Given the description of an element on the screen output the (x, y) to click on. 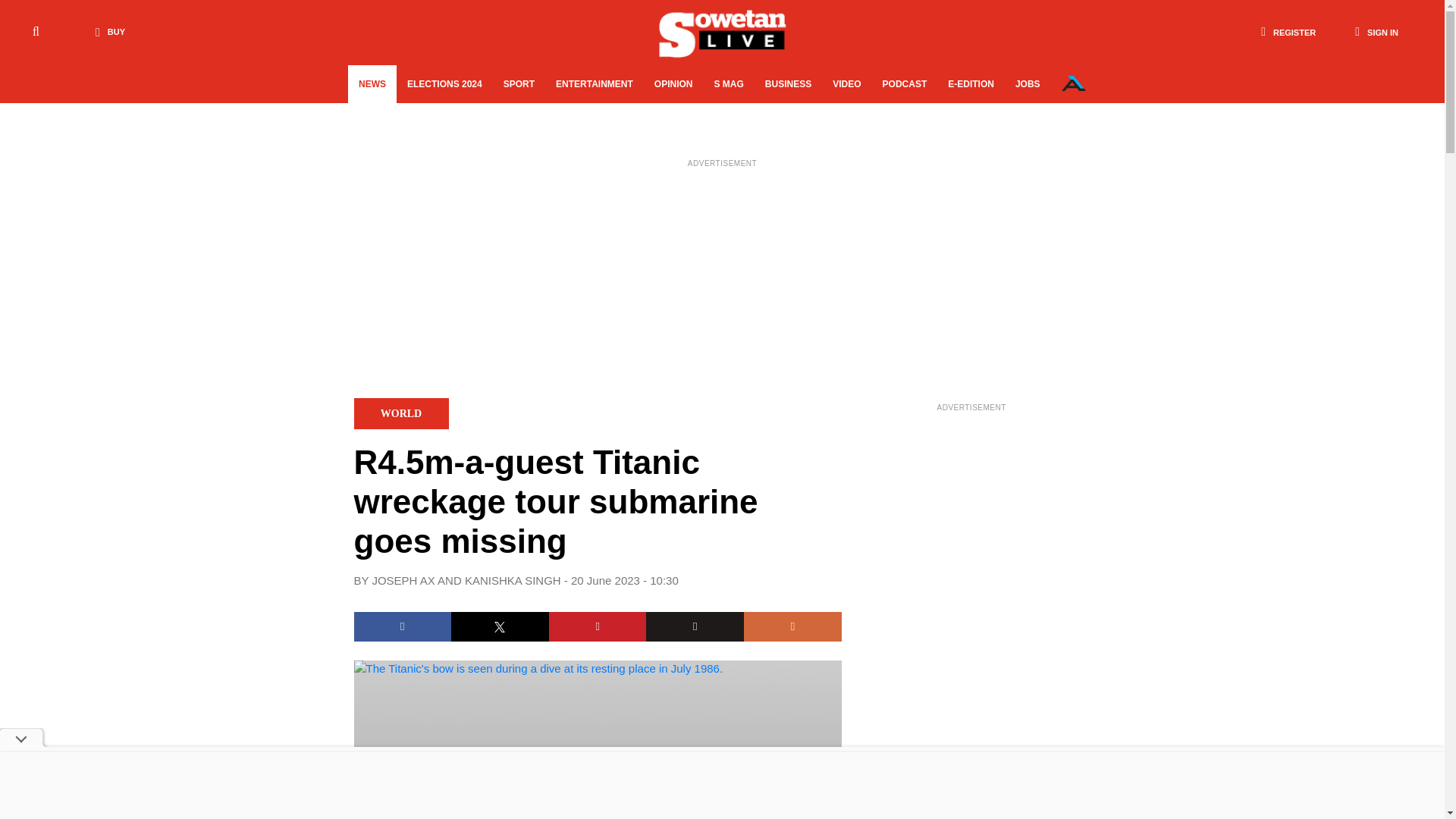
REGISTER (1288, 32)
ELECTIONS 2024 (444, 84)
VIDEO (846, 84)
NEWS (371, 84)
BUY (106, 32)
JOBS (1027, 84)
OPINION (673, 84)
BUSINESS (788, 84)
PODCAST (904, 84)
SPORT (518, 84)
Our Network (1073, 83)
SIGN IN (1376, 32)
E-EDITION (970, 84)
S MAG (728, 84)
